Given the description of an element on the screen output the (x, y) to click on. 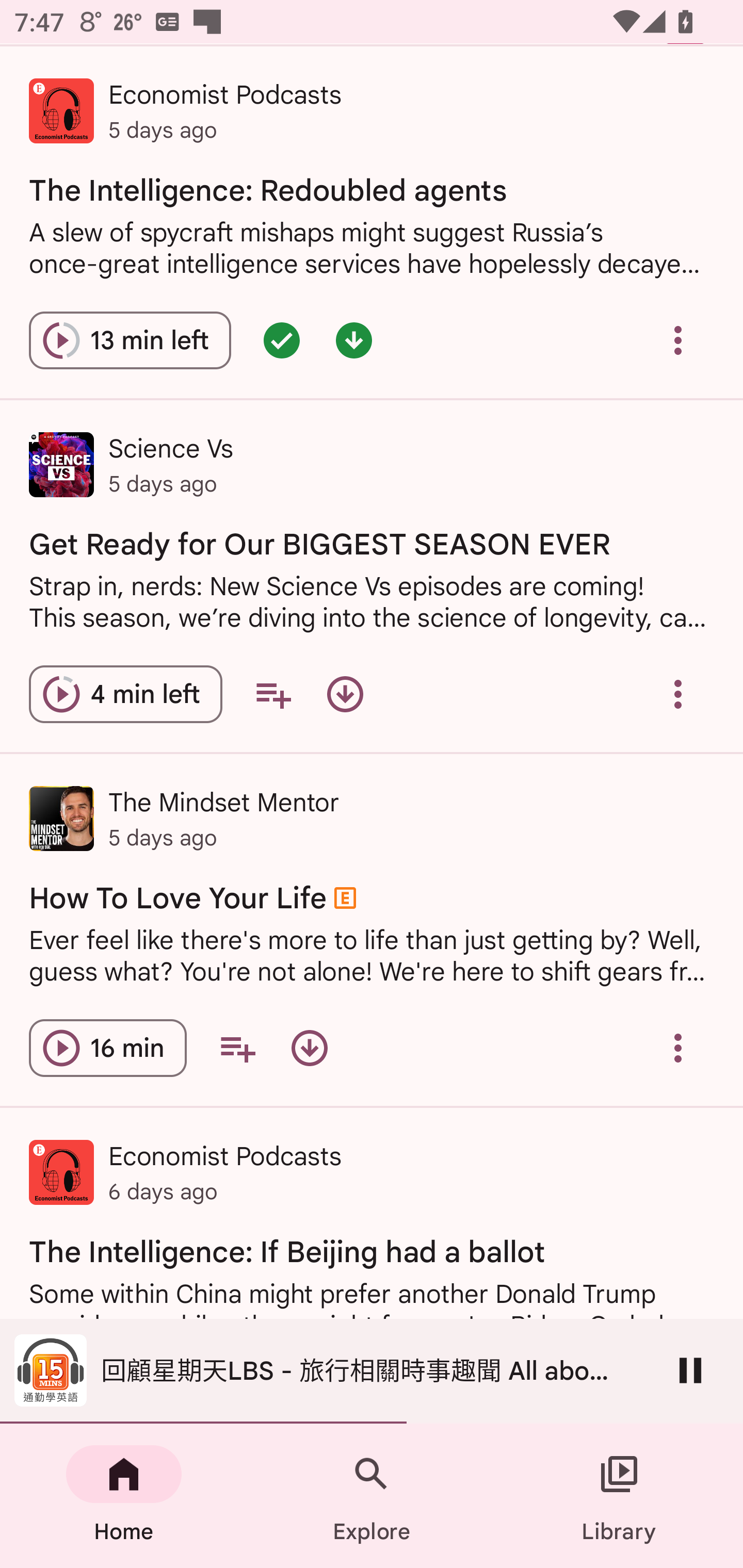
Episode queued - double tap for options (281, 340)
Episode downloaded - double tap for options (354, 340)
Overflow menu (677, 340)
Add to your queue (273, 693)
Download episode (345, 693)
Overflow menu (677, 693)
Play episode How To Love Your Life 16 min (107, 1048)
Add to your queue (237, 1048)
Download episode (309, 1048)
Overflow menu (677, 1048)
Pause (690, 1370)
Explore (371, 1495)
Library (619, 1495)
